Given the description of an element on the screen output the (x, y) to click on. 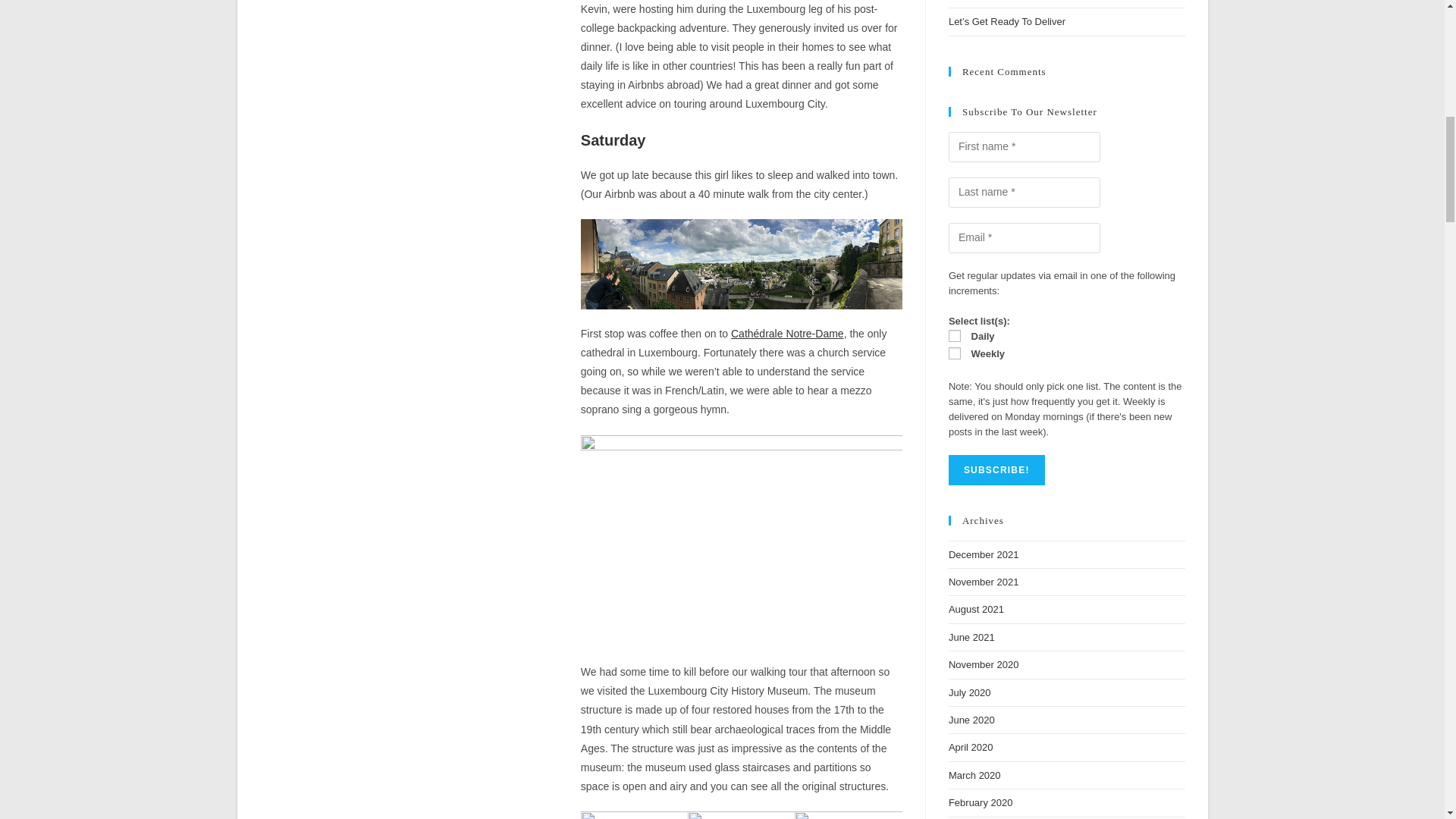
6 (954, 353)
4 (954, 336)
Subscribe! (997, 470)
